Given the description of an element on the screen output the (x, y) to click on. 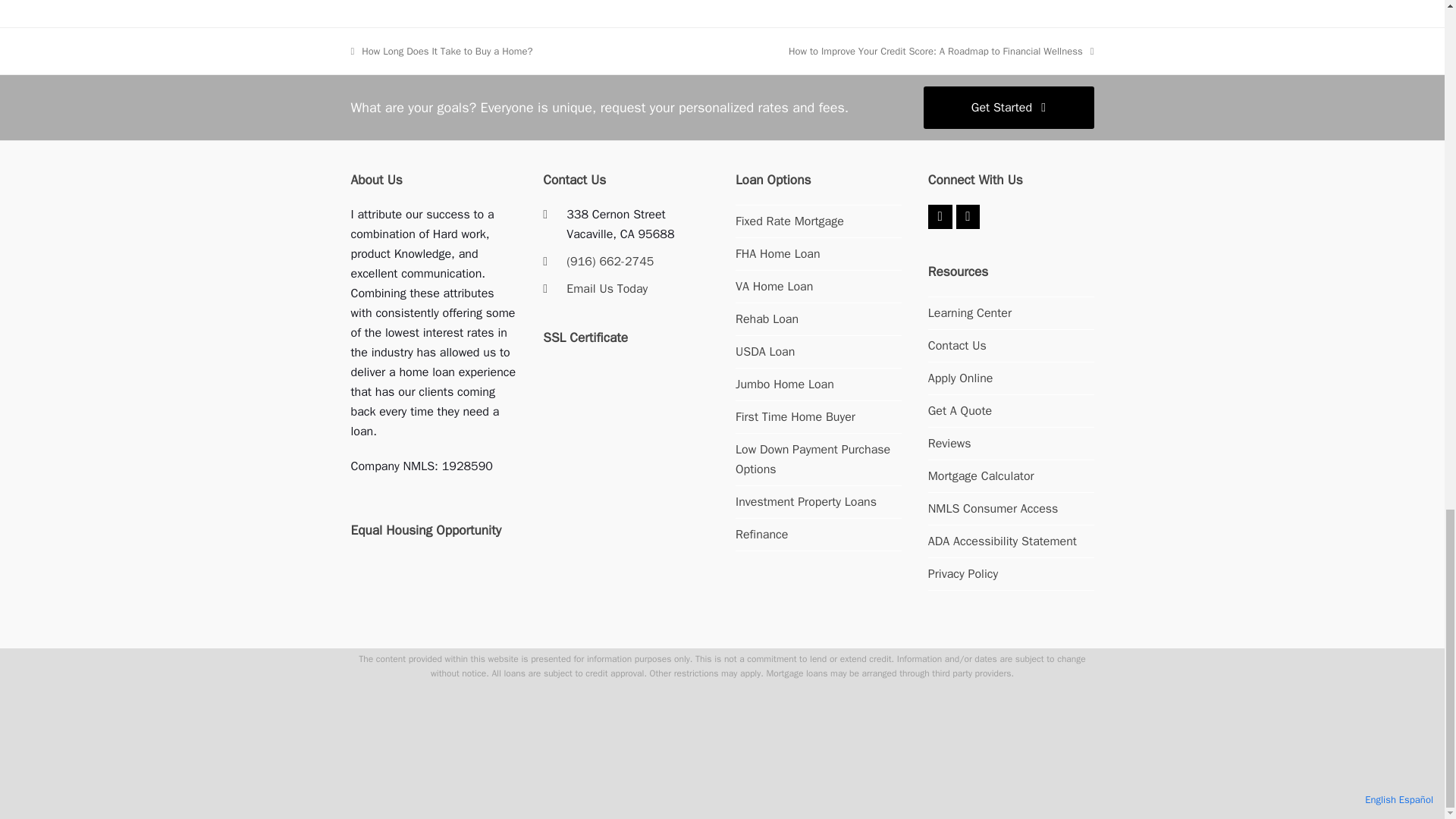
Fixed Rate Mortgage (789, 221)
